Given the description of an element on the screen output the (x, y) to click on. 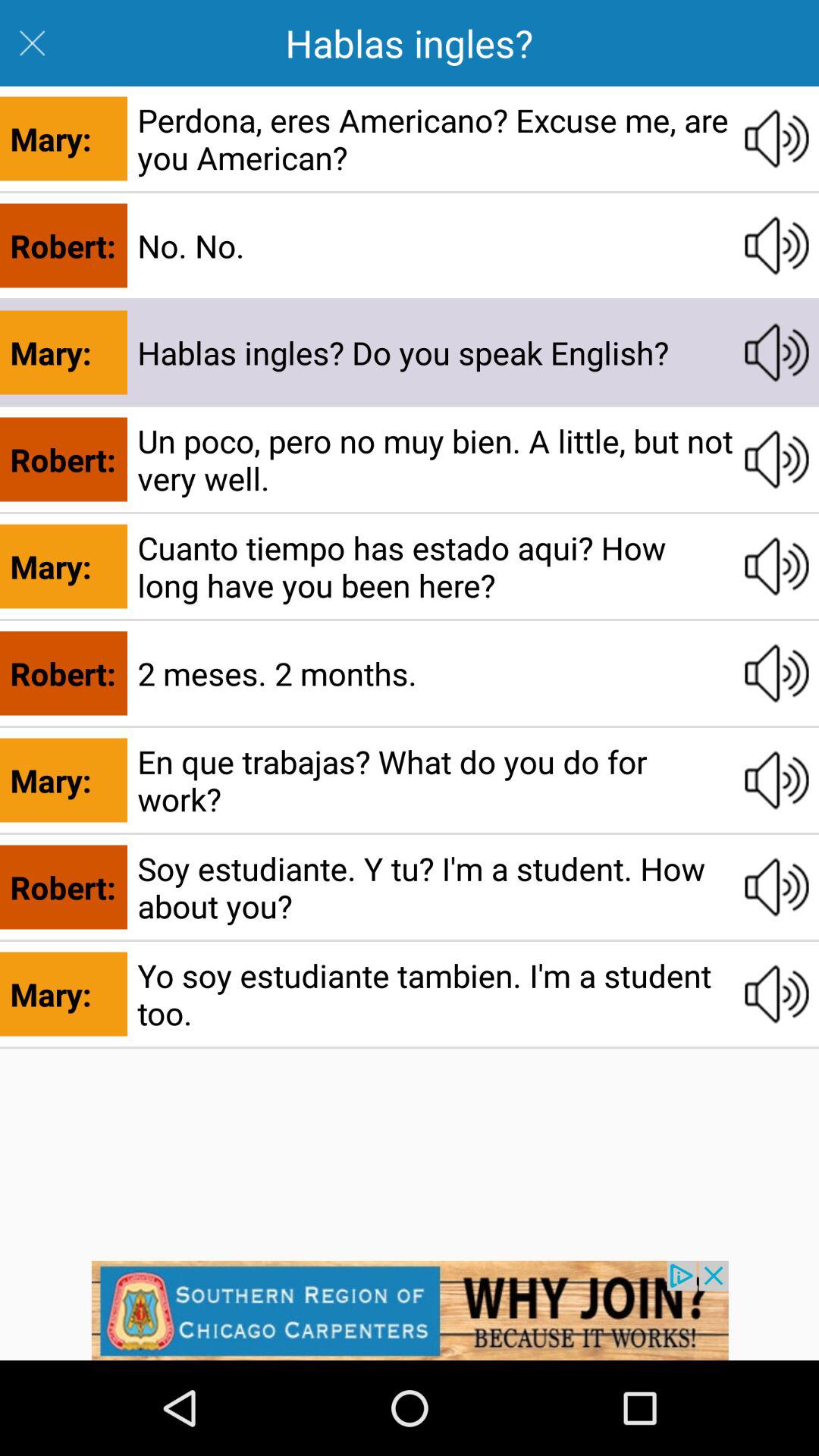
play audio (776, 566)
